Given the description of an element on the screen output the (x, y) to click on. 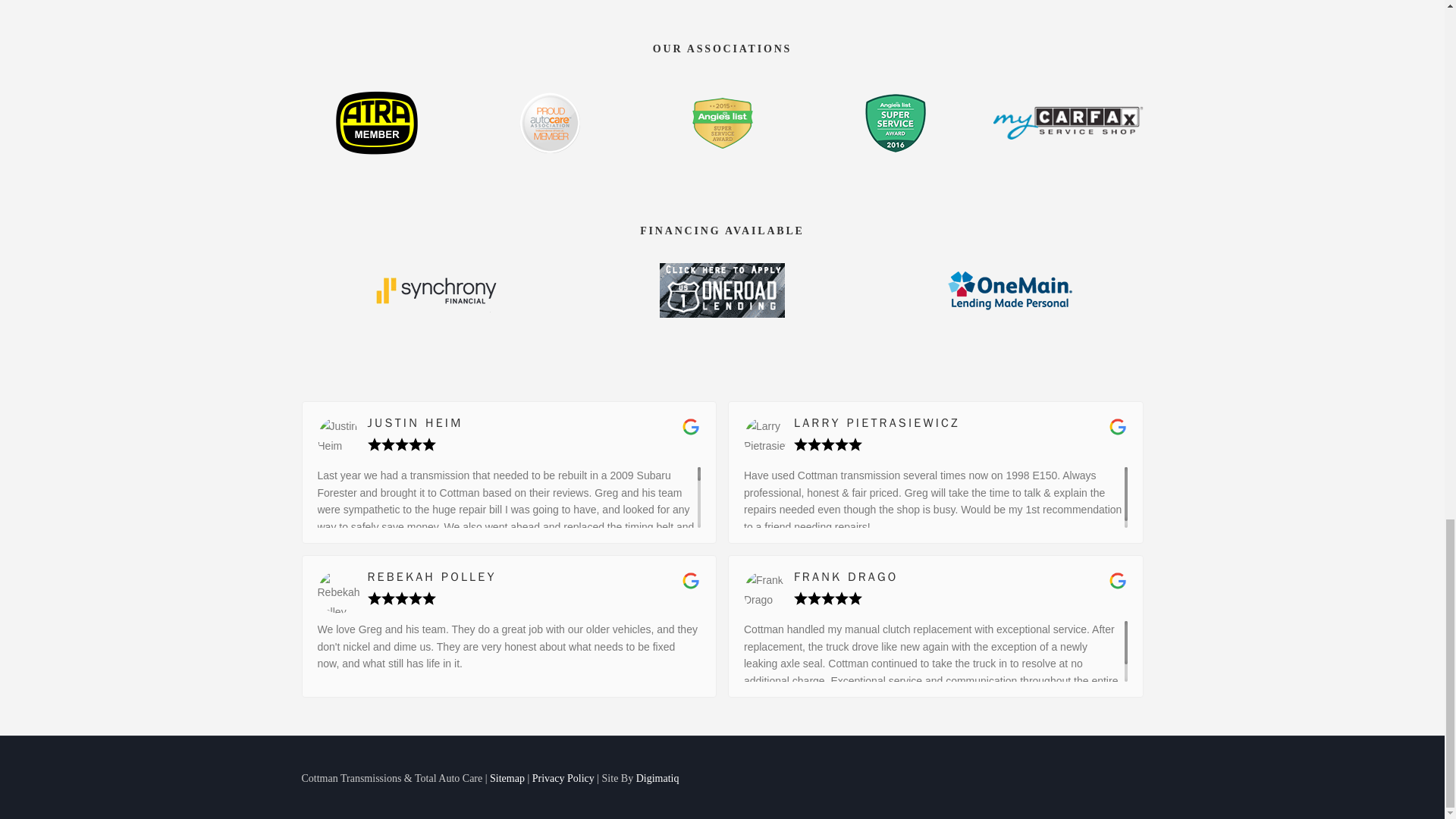
my-carfax (1067, 122)
payments-onemain (1010, 290)
angies-list-super-service-award-2016 (894, 123)
synchrony-isolated (433, 289)
payments-oneroad (721, 289)
autocare-association-member (548, 122)
angies-list-super-service-award-2015 (721, 122)
ATRA-logo (376, 122)
